Given the description of an element on the screen output the (x, y) to click on. 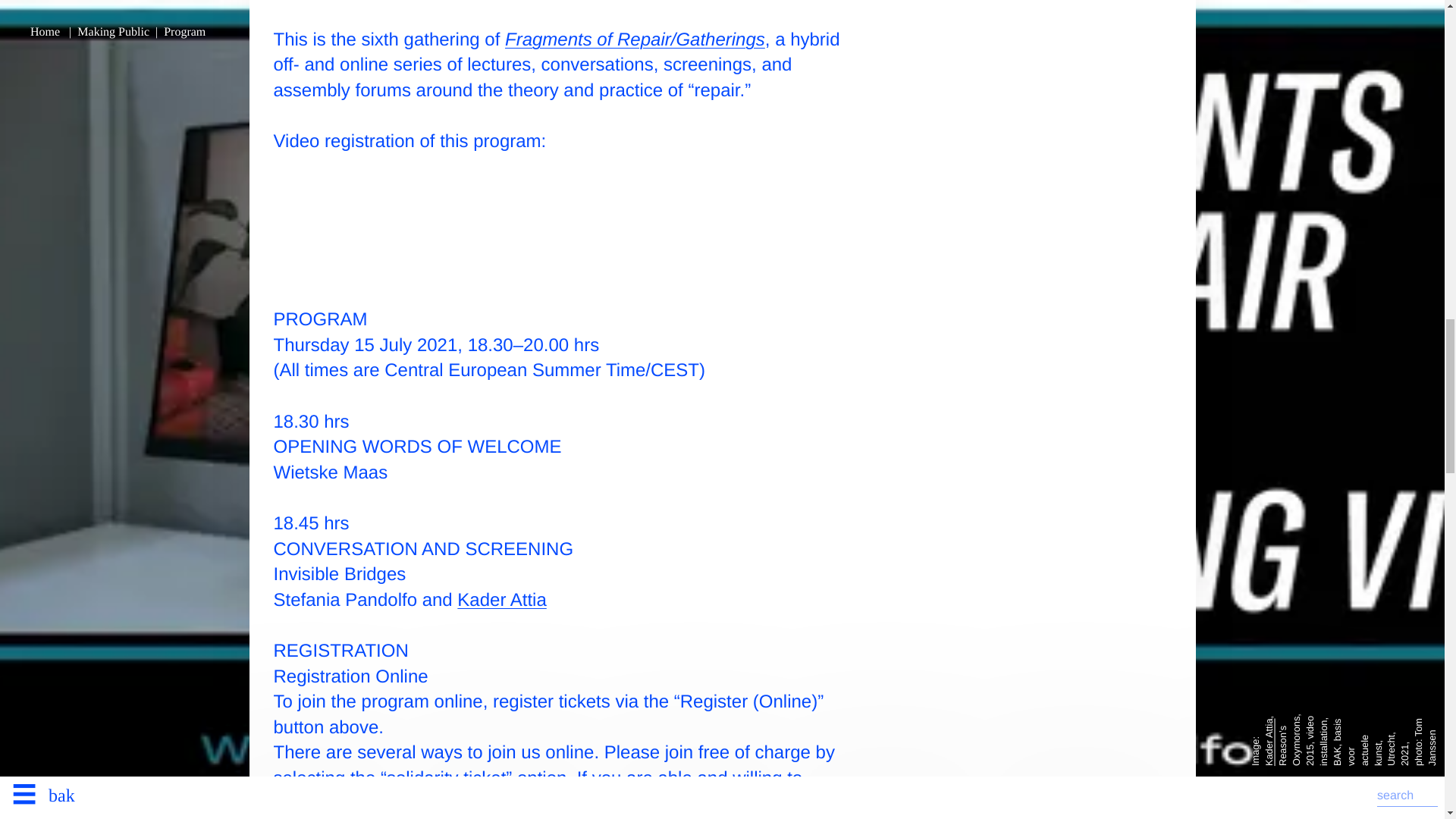
Kader Attia (501, 599)
